Given the description of an element on the screen output the (x, y) to click on. 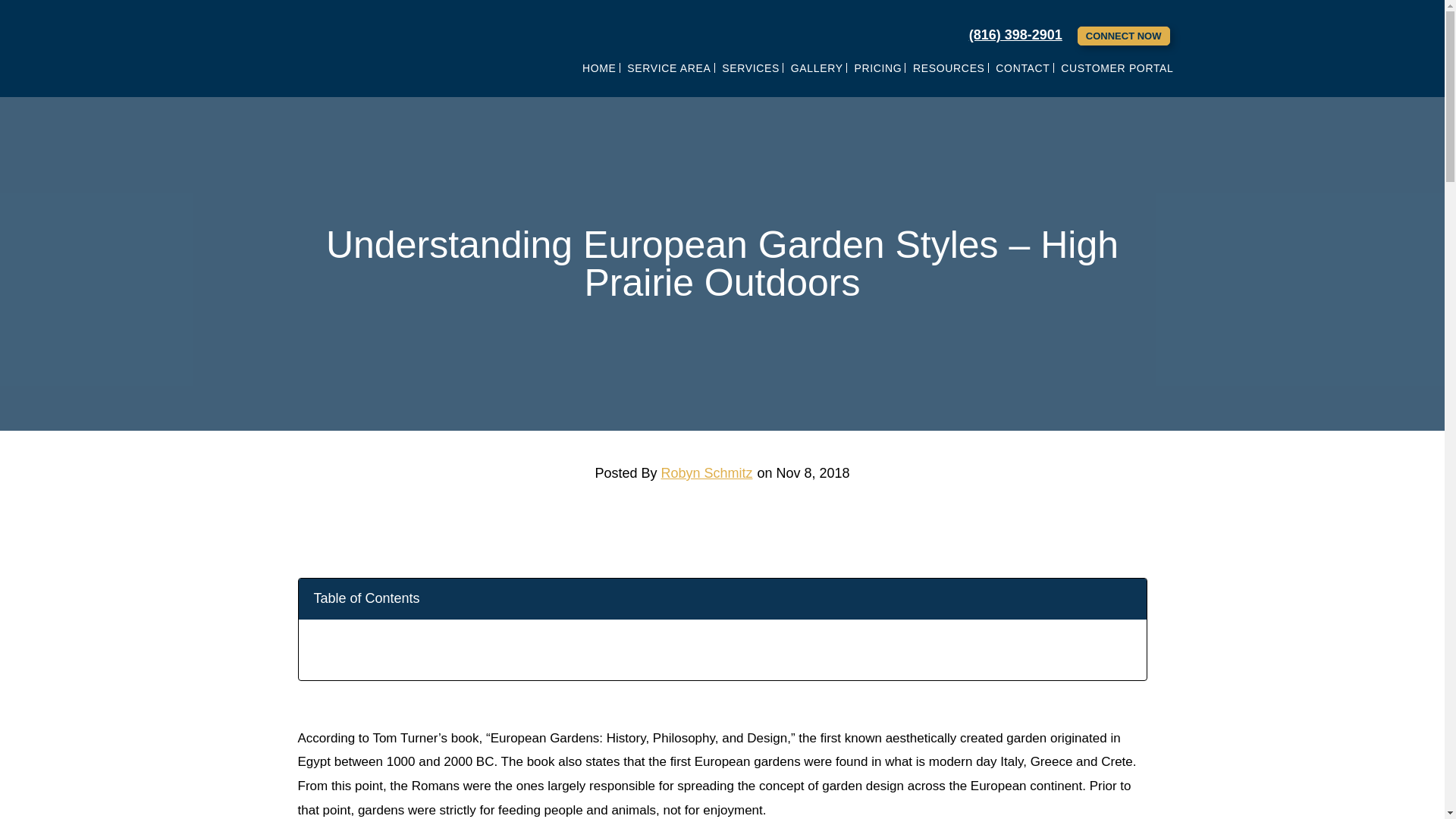
HOME (599, 67)
SERVICES (750, 67)
CONNECT NOW (1123, 35)
SERVICE AREA (668, 67)
